Given the description of an element on the screen output the (x, y) to click on. 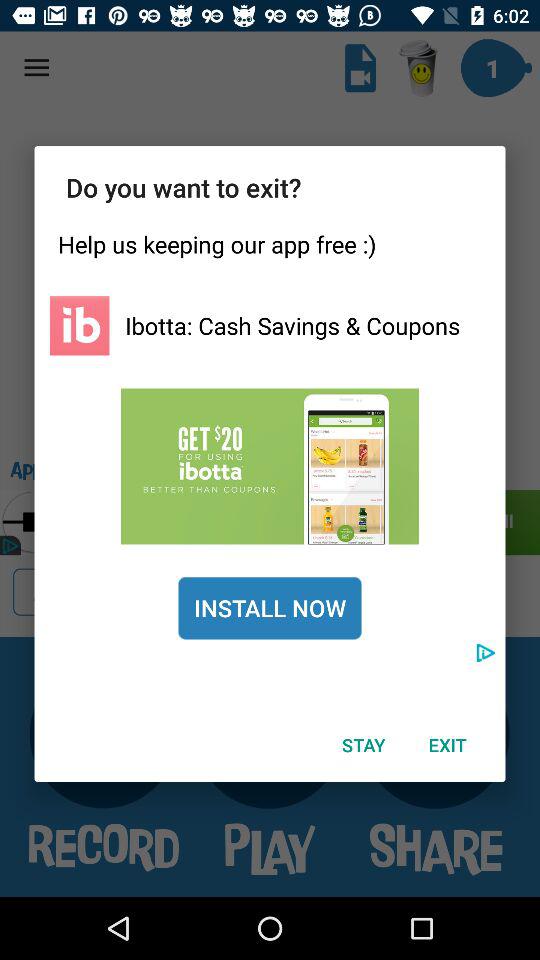
choose the stay icon (363, 744)
